Given the description of an element on the screen output the (x, y) to click on. 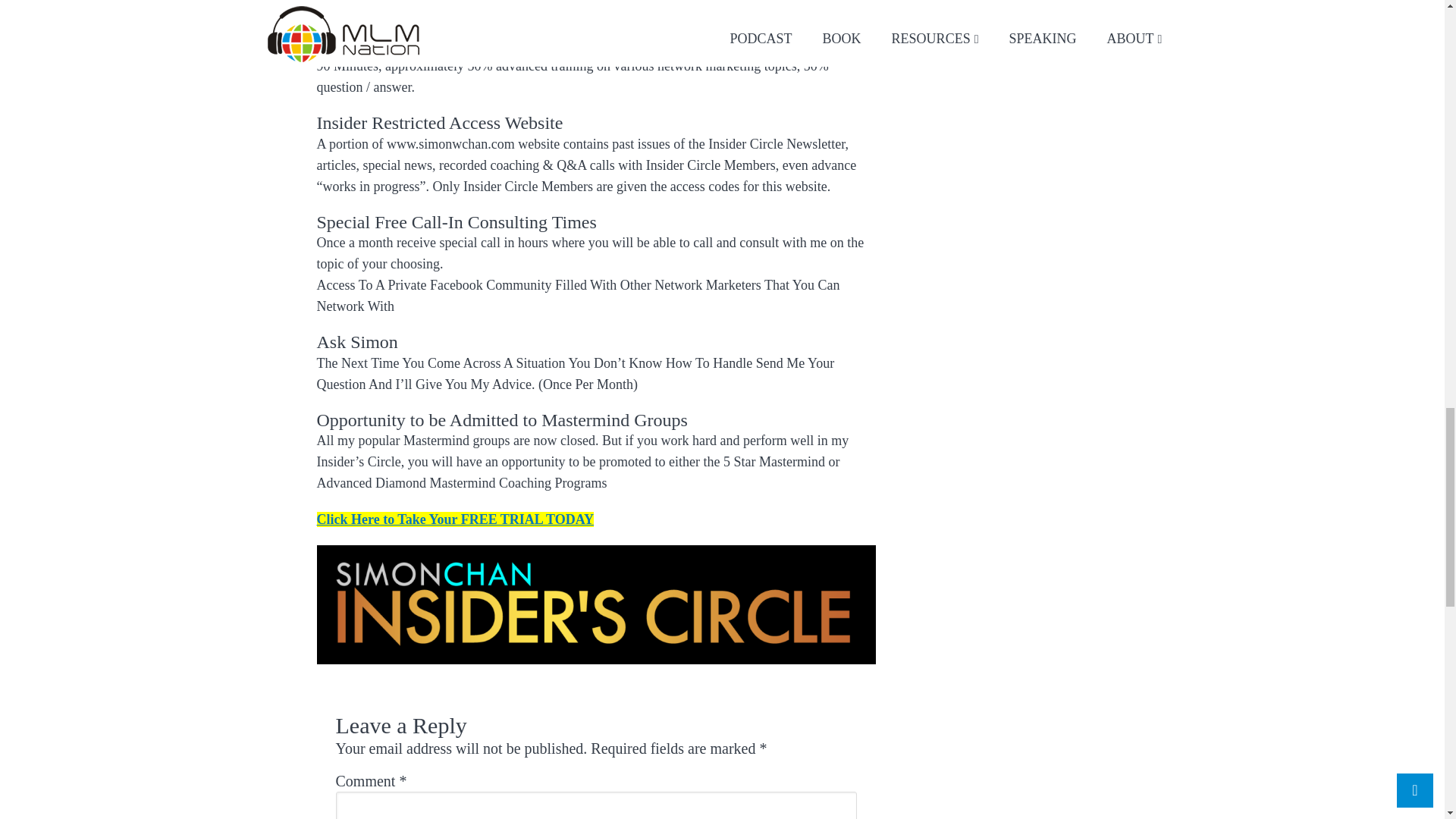
Click Here to Take Your FREE TRIAL TODAY (455, 519)
